Given the description of an element on the screen output the (x, y) to click on. 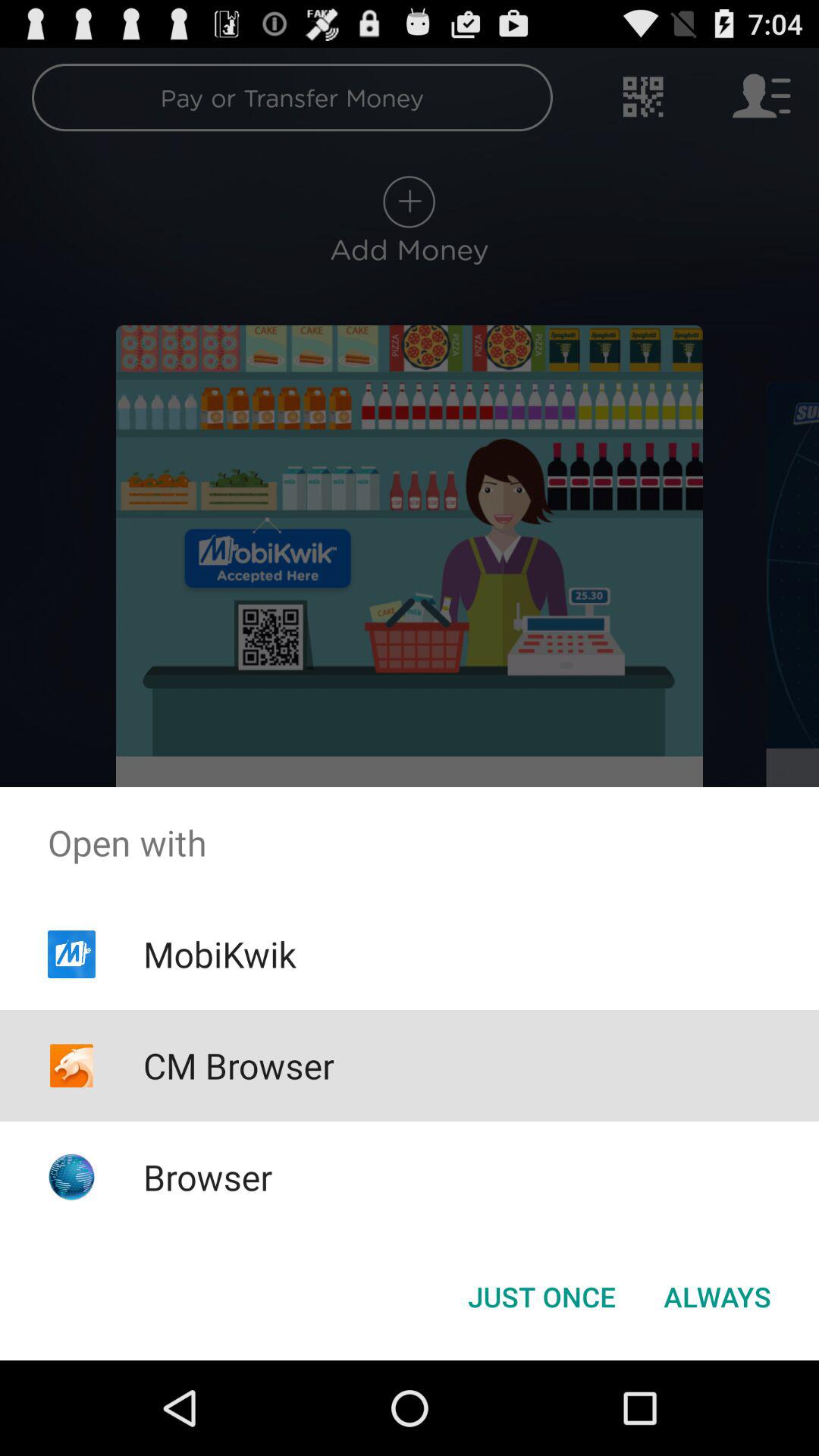
turn off the icon next to the just once (717, 1296)
